Given the description of an element on the screen output the (x, y) to click on. 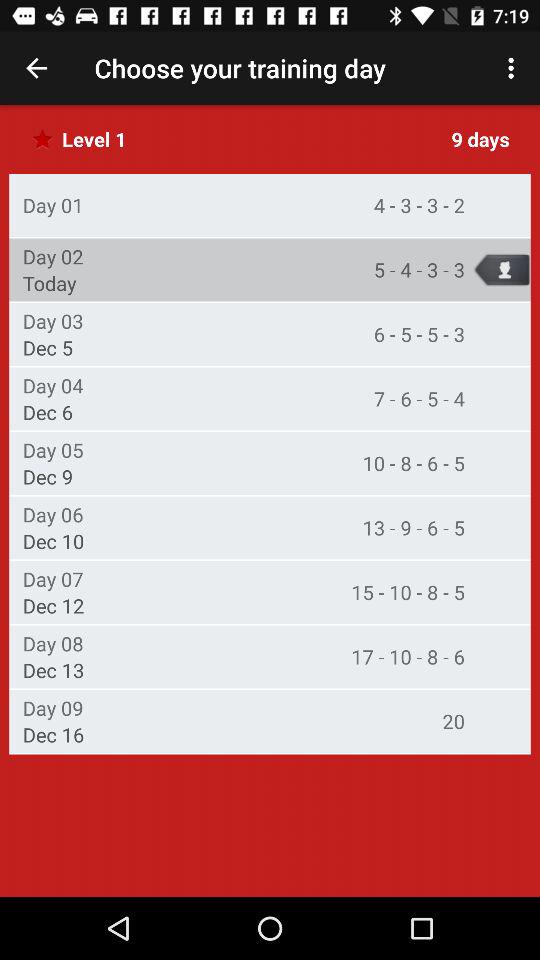
press the item below the dec 12 item (52, 643)
